Given the description of an element on the screen output the (x, y) to click on. 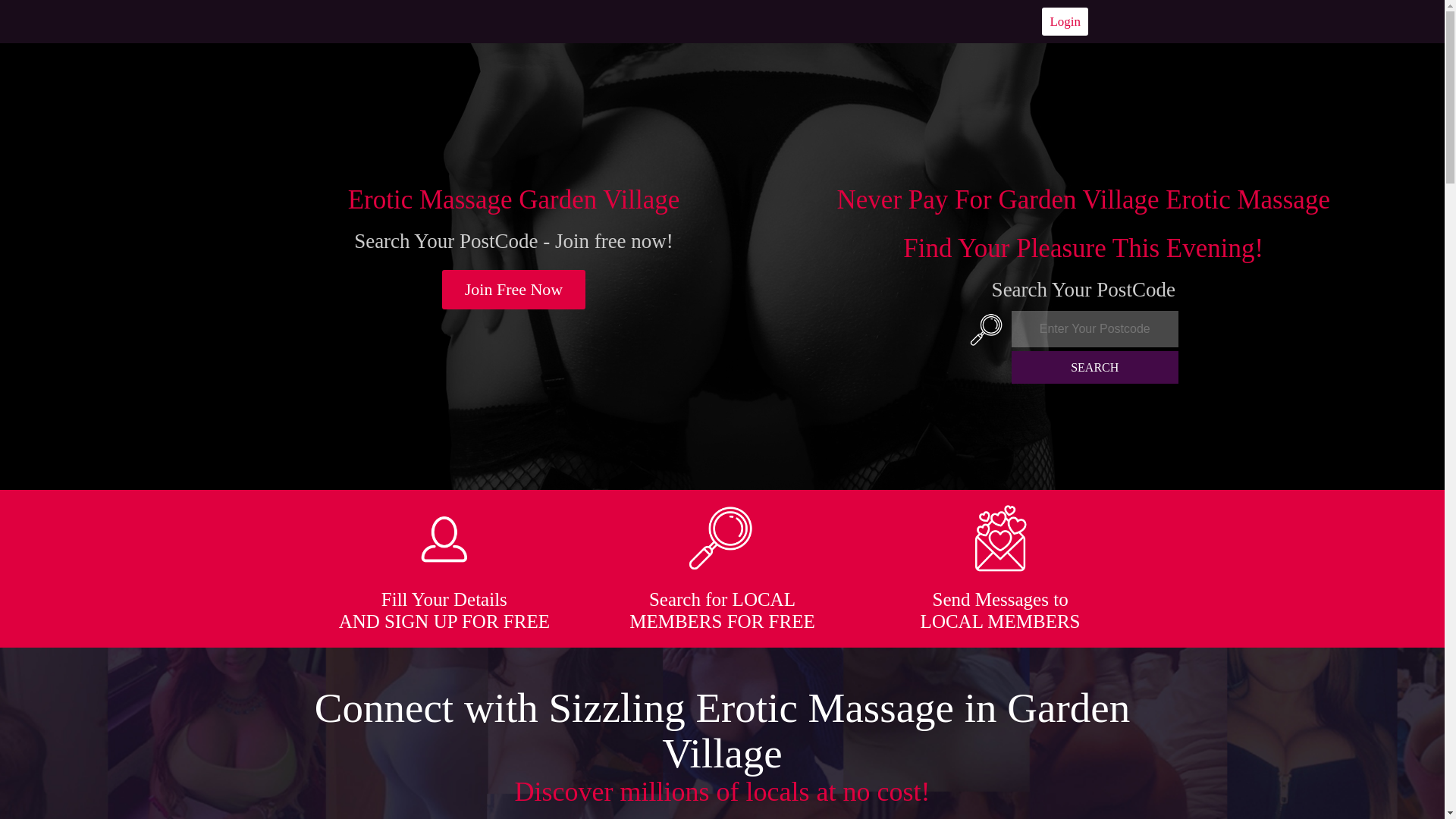
SEARCH (1094, 367)
Login (1064, 21)
Join Free Now (514, 289)
Join (514, 289)
Login (1064, 21)
